Given the description of an element on the screen output the (x, y) to click on. 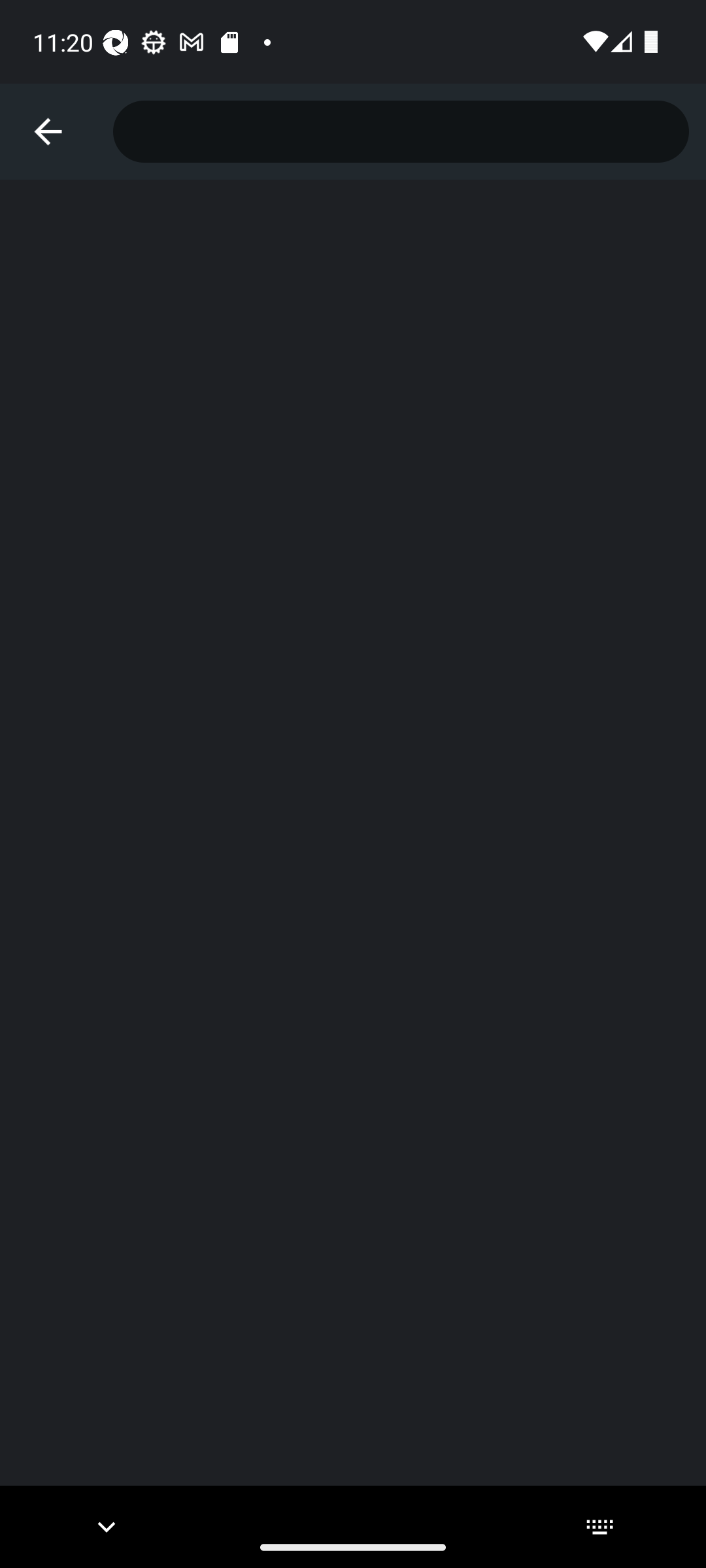
Navigate up (48, 131)
